Given the description of an element on the screen output the (x, y) to click on. 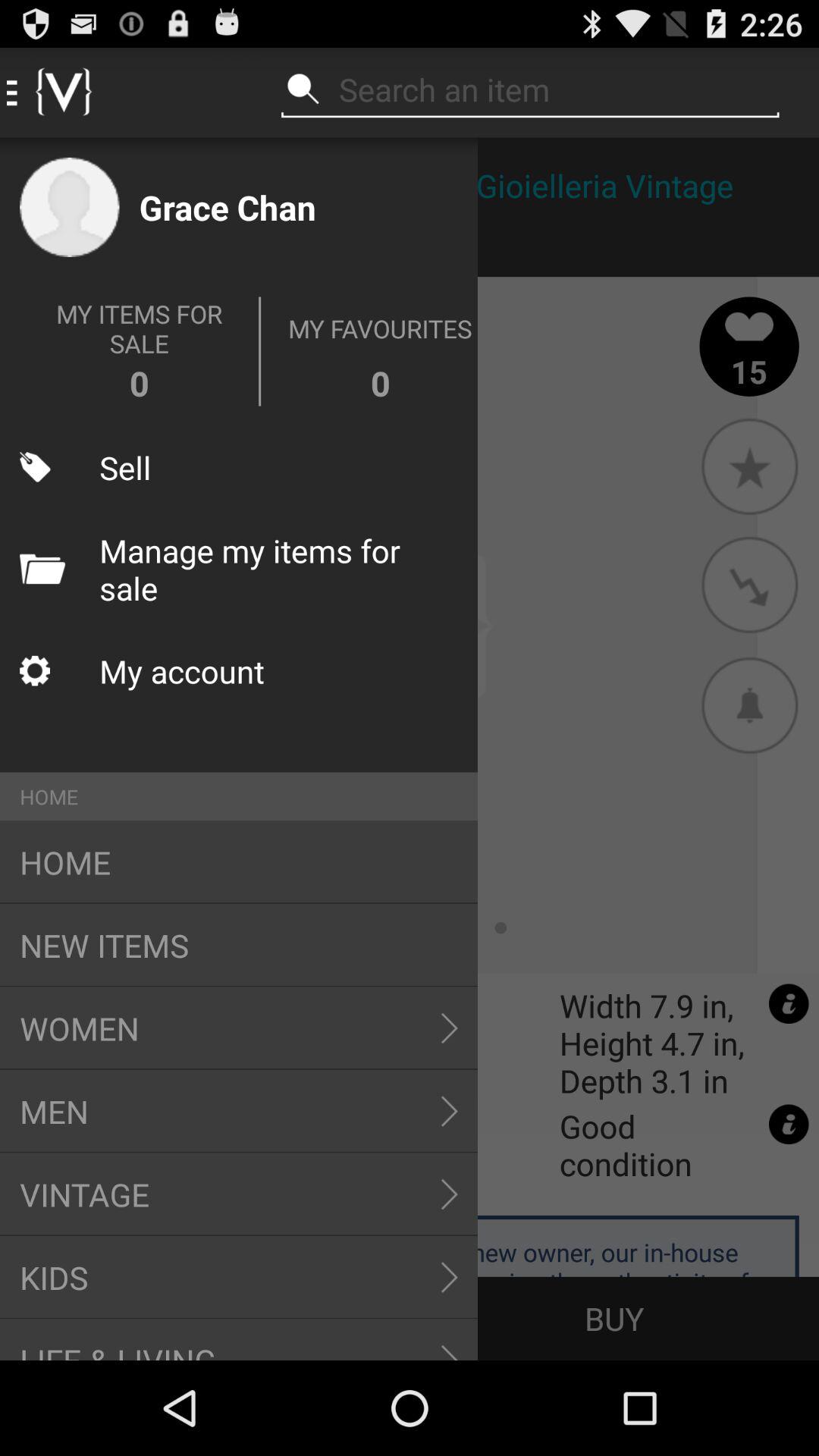
click on the profile icon (69, 207)
click on the star icon (749, 465)
click on the buy option (614, 1317)
select the file manager icon (42, 568)
select the 1st scroll present in the home (449, 1028)
click on the icon present above the bell icon (749, 584)
select the information button next to good condition (789, 1124)
